Given the description of an element on the screen output the (x, y) to click on. 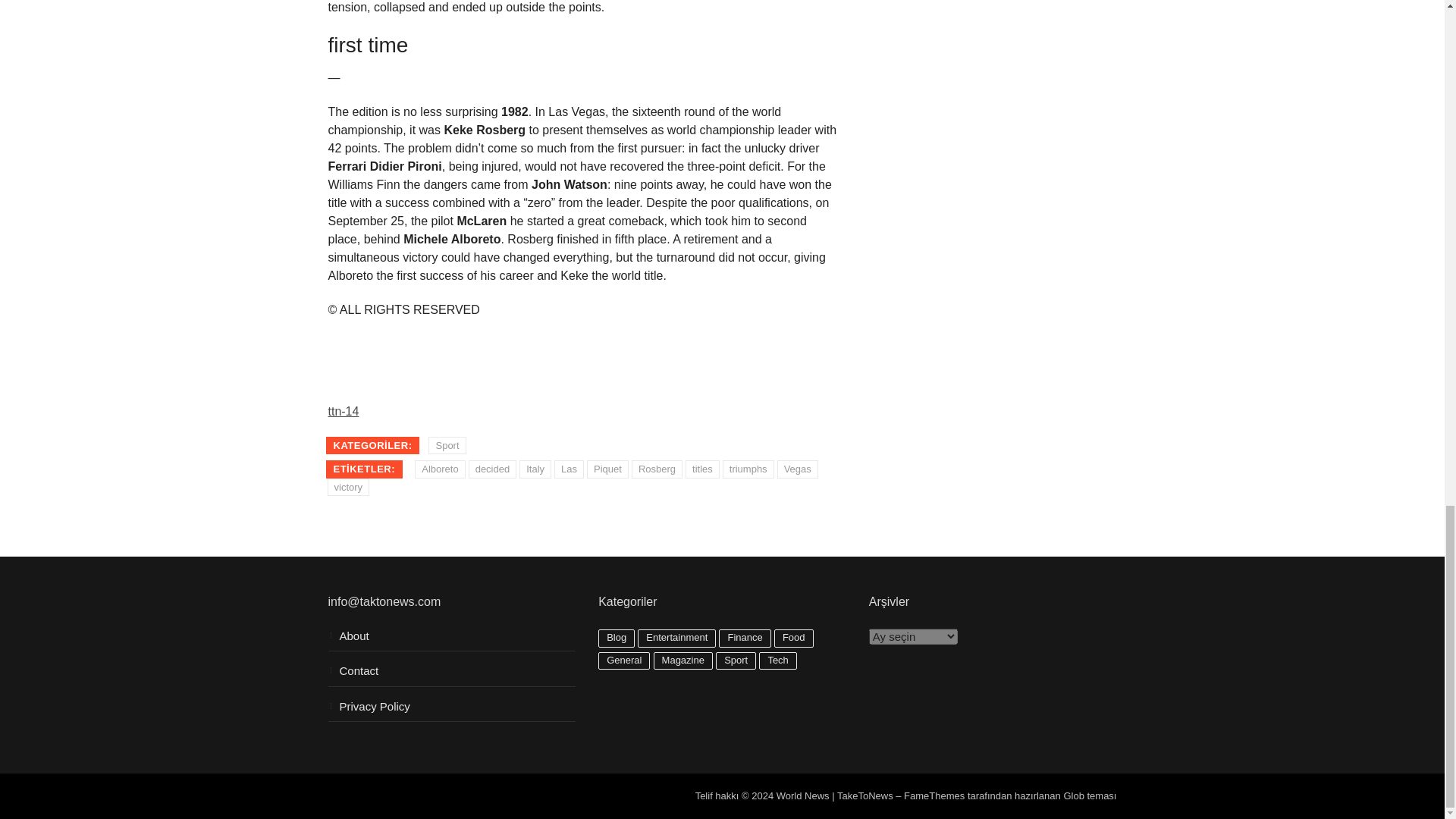
Italy (535, 469)
Las (568, 469)
decided (492, 469)
Alboreto (439, 469)
Piquet (607, 469)
Rosberg (656, 469)
Sport (446, 445)
Vegas (797, 469)
victory (348, 487)
ttn-14 (342, 410)
